Given the description of an element on the screen output the (x, y) to click on. 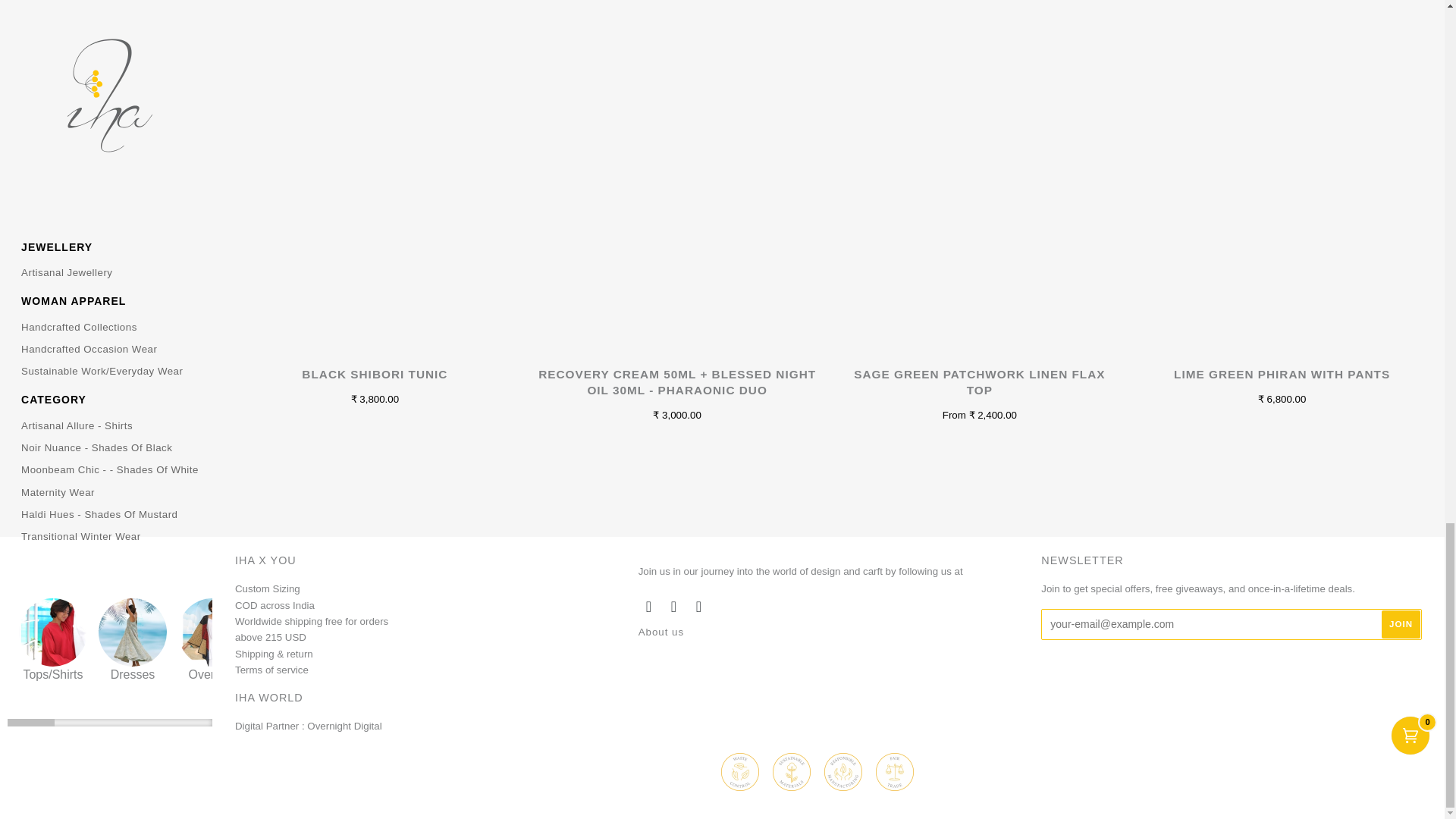
Terms of Service (273, 677)
Join (1401, 624)
